Given the description of an element on the screen output the (x, y) to click on. 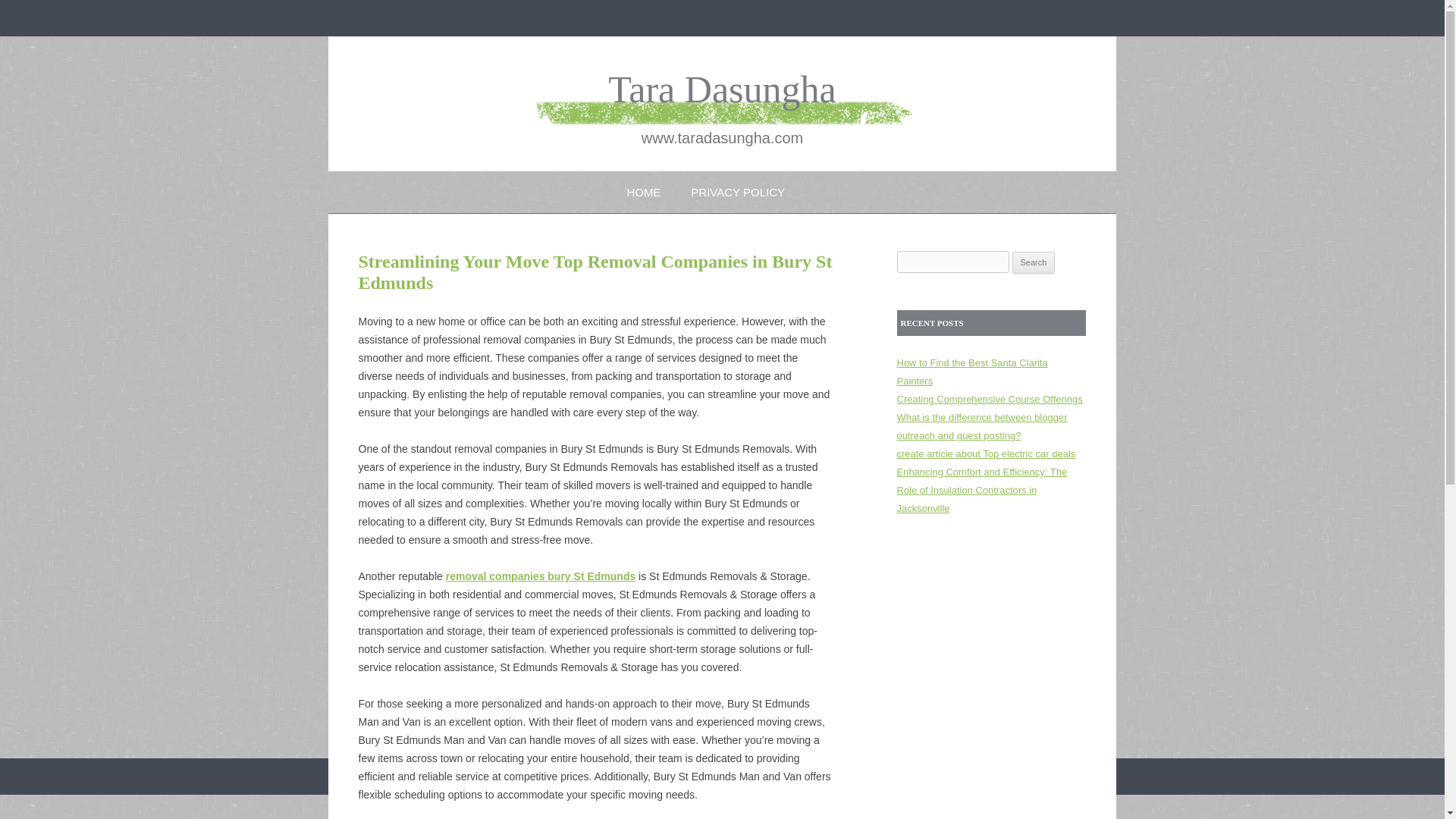
create article about Top electric car deals (985, 453)
Search (1033, 262)
Search (1033, 262)
How to Find the Best Santa Clarita Painters (971, 371)
Tara Dasungha (721, 89)
Creating Comprehensive Course Offerings (988, 398)
Tara Dasungha (721, 89)
PRIVACY POLICY (737, 191)
removal companies bury St Edmunds (540, 576)
